Given the description of an element on the screen output the (x, y) to click on. 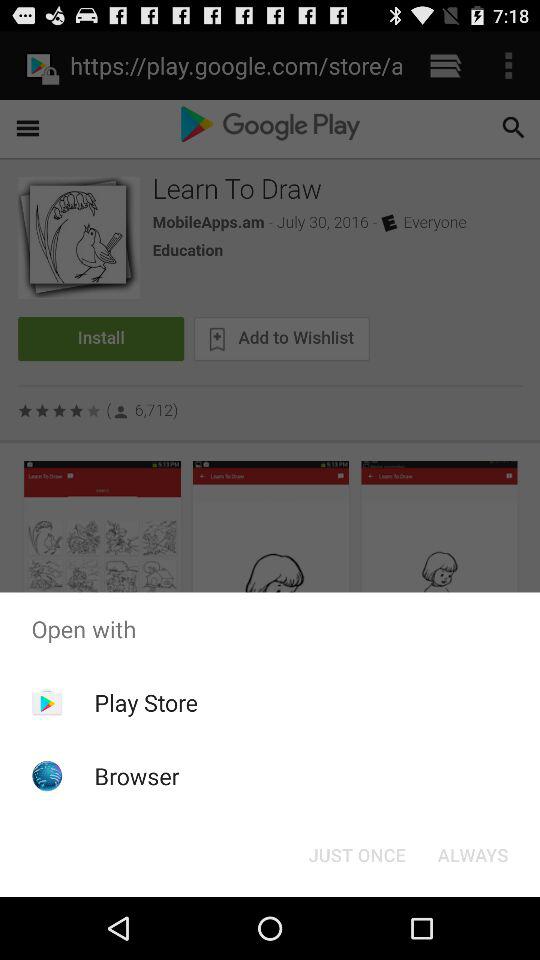
press the app above browser app (146, 702)
